Given the description of an element on the screen output the (x, y) to click on. 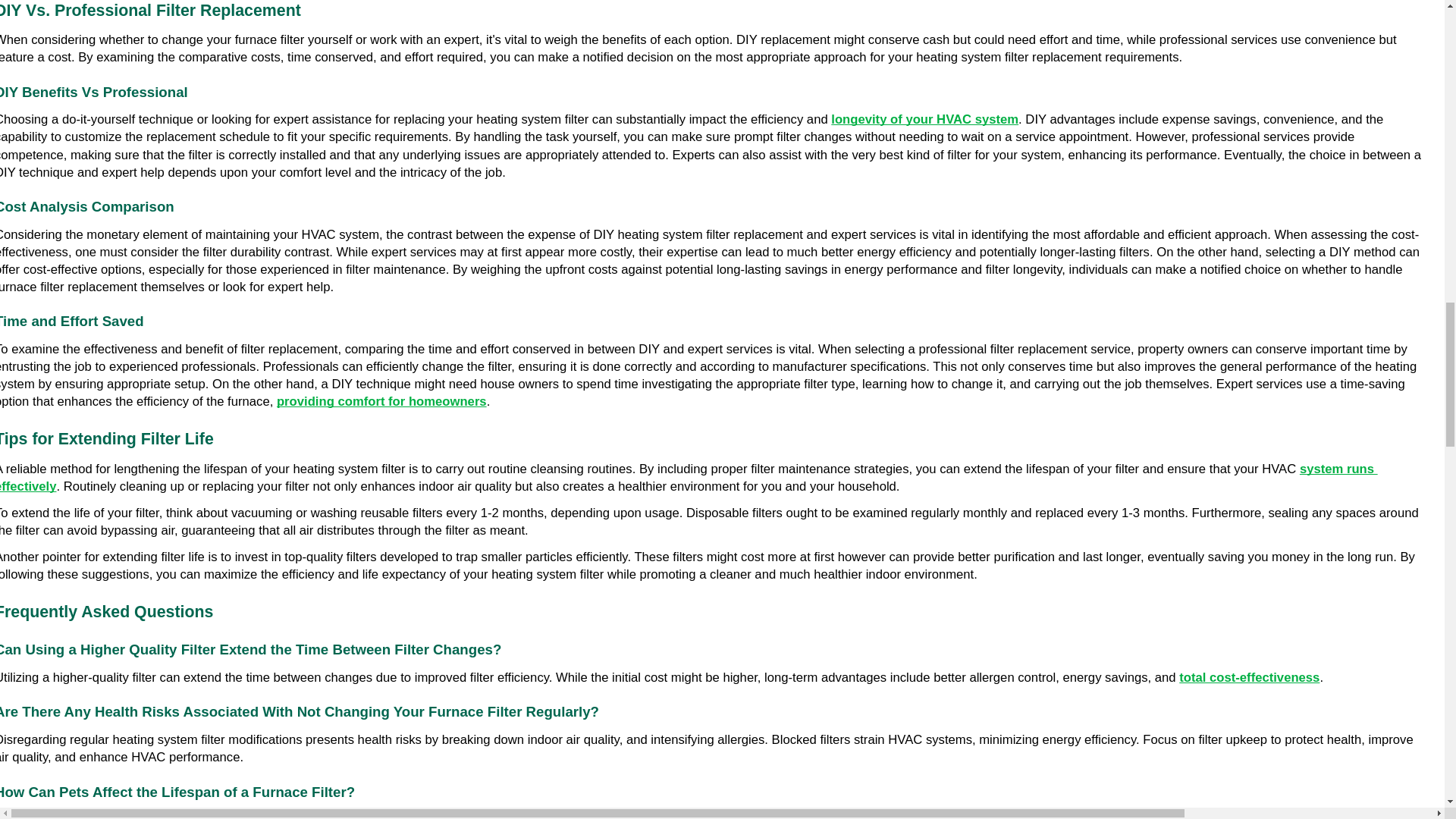
total cost-effectiveness (1249, 676)
longevity of your HVAC system (924, 119)
system runs effectively (688, 477)
providing comfort for homeowners (381, 400)
